Given the description of an element on the screen output the (x, y) to click on. 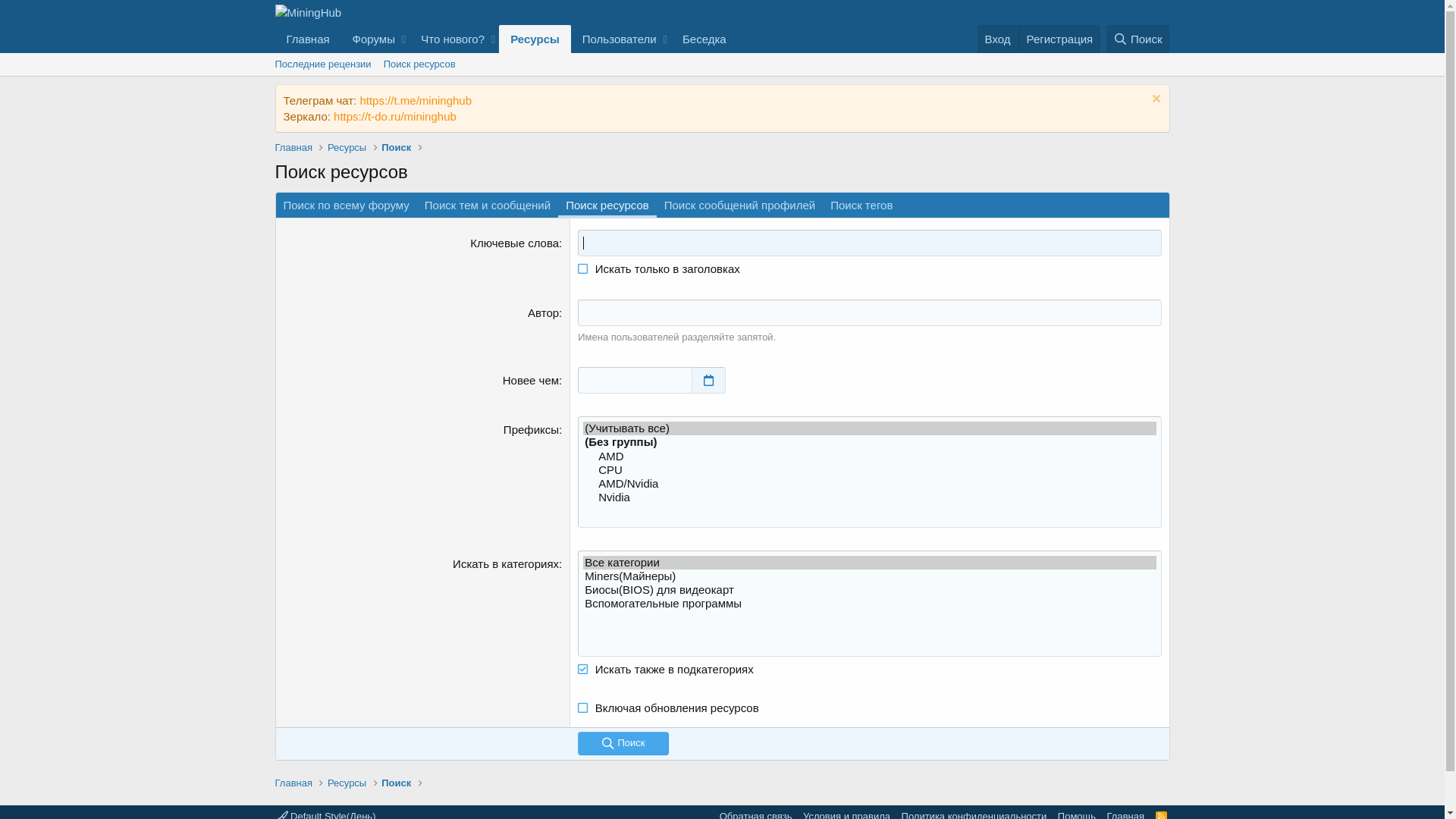
https://t-do.ru/mininghub Element type: text (394, 115)
https://t.me/mininghub Element type: text (415, 100)
